Given the description of an element on the screen output the (x, y) to click on. 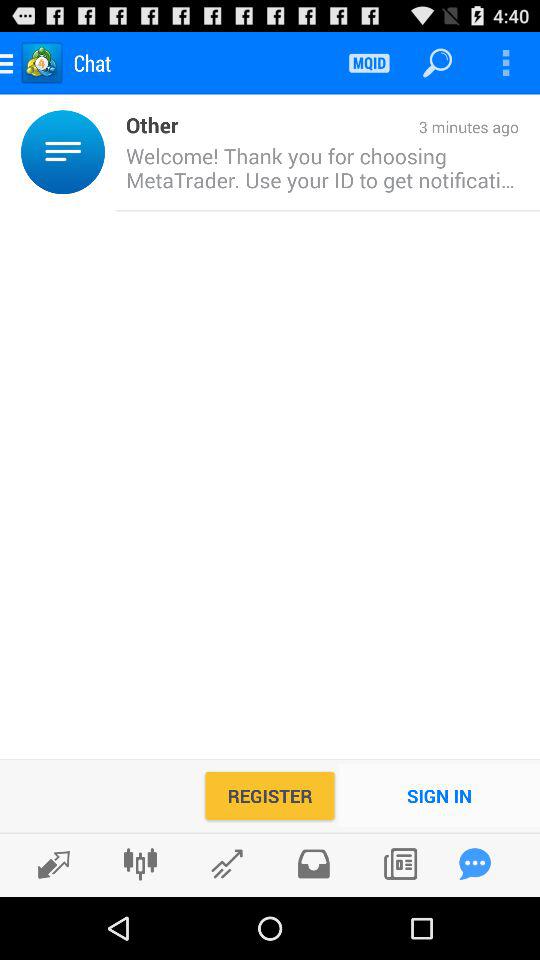
open item to the left of 3 minutes ago (146, 124)
